Given the description of an element on the screen output the (x, y) to click on. 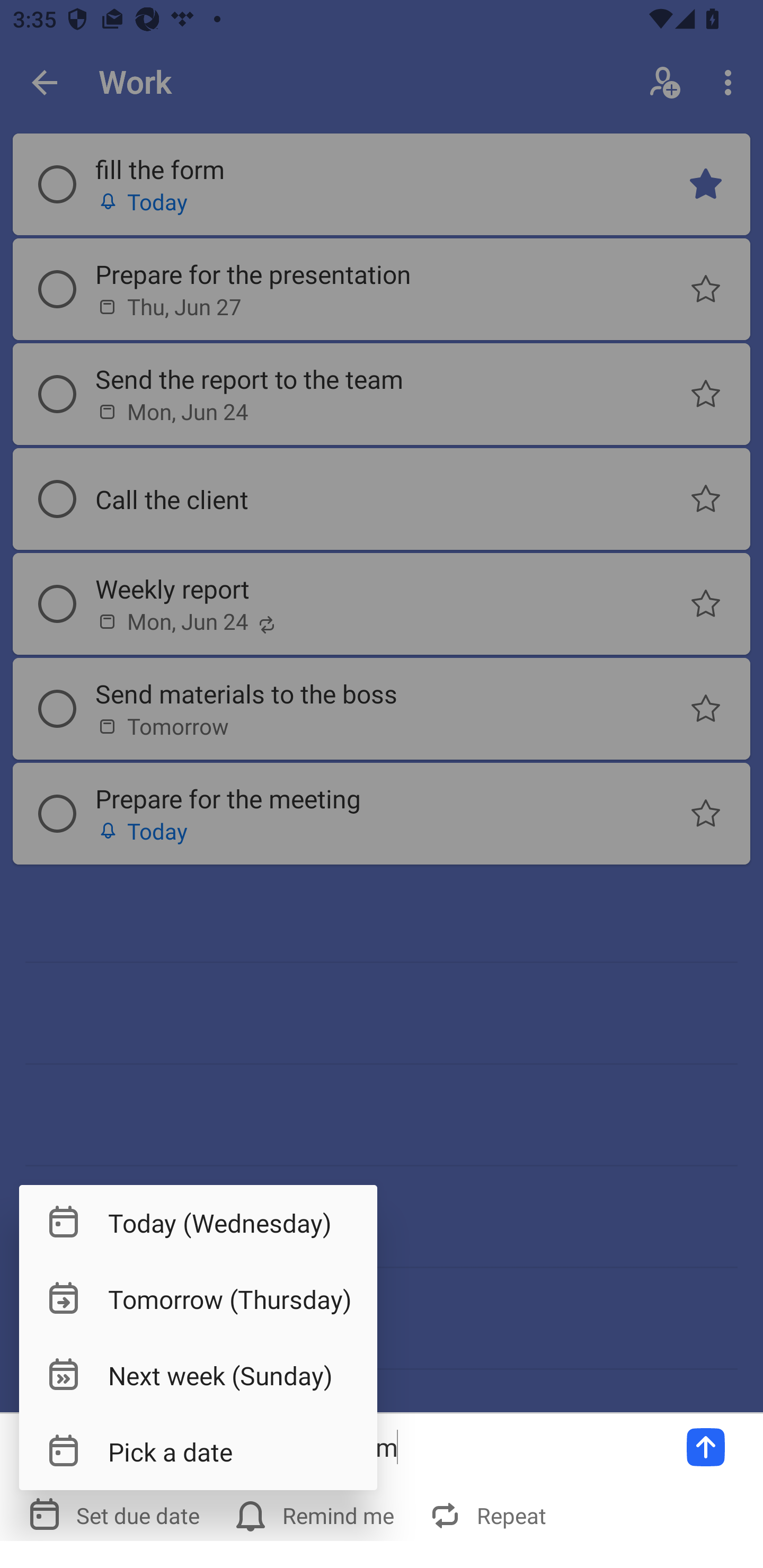
Tomorrow (Thursday)2 in 4 Tomorrow (Thursday) (197, 1298)
